Given the description of an element on the screen output the (x, y) to click on. 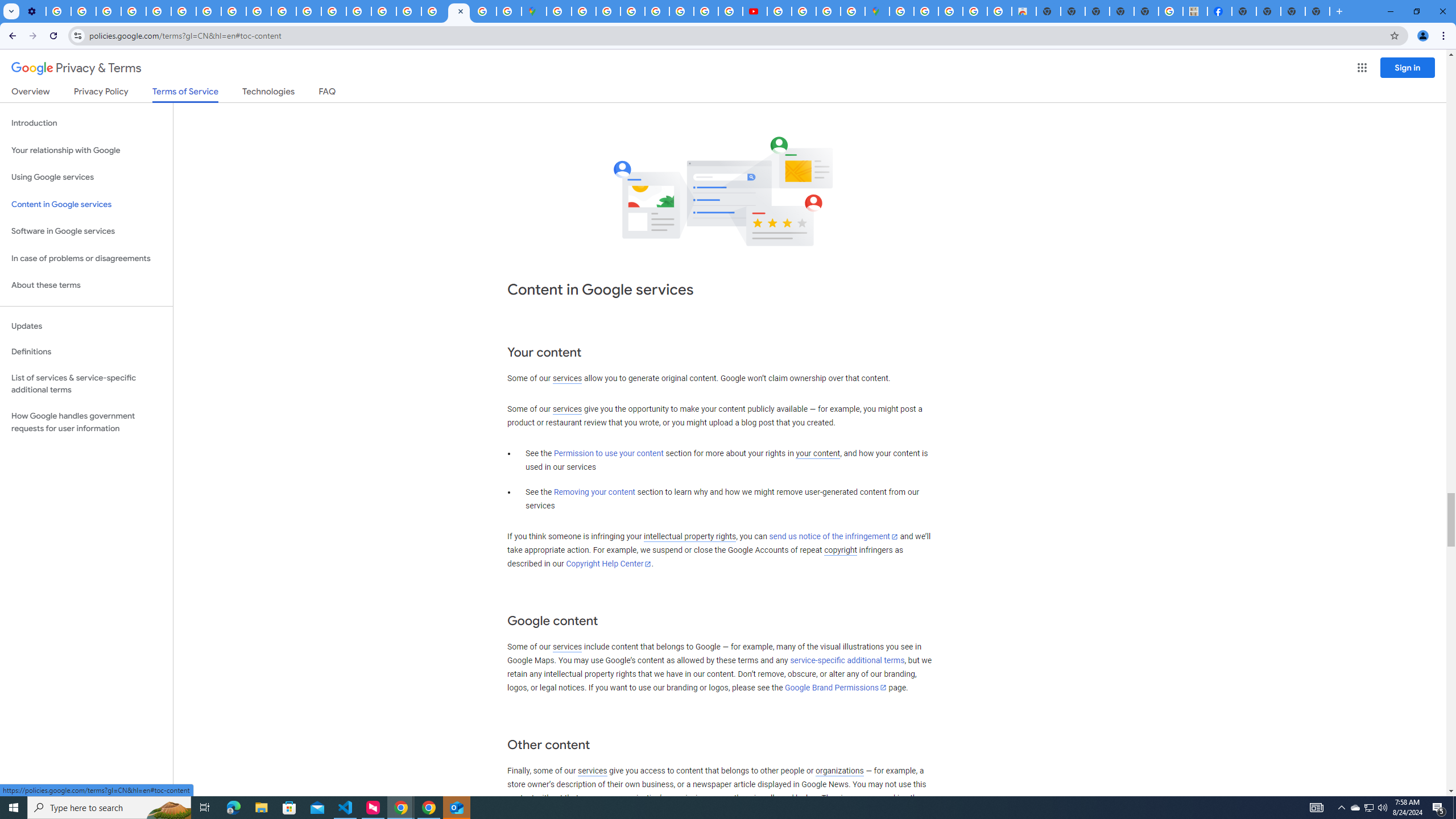
Delete photos & videos - Computer - Google Photos Help (57, 11)
Privacy Help Center - Policies Help (332, 11)
YouTube (182, 11)
MILEY CYRUS. (1194, 11)
Using Google services (86, 176)
Miley Cyrus | Facebook (1219, 11)
